Given the description of an element on the screen output the (x, y) to click on. 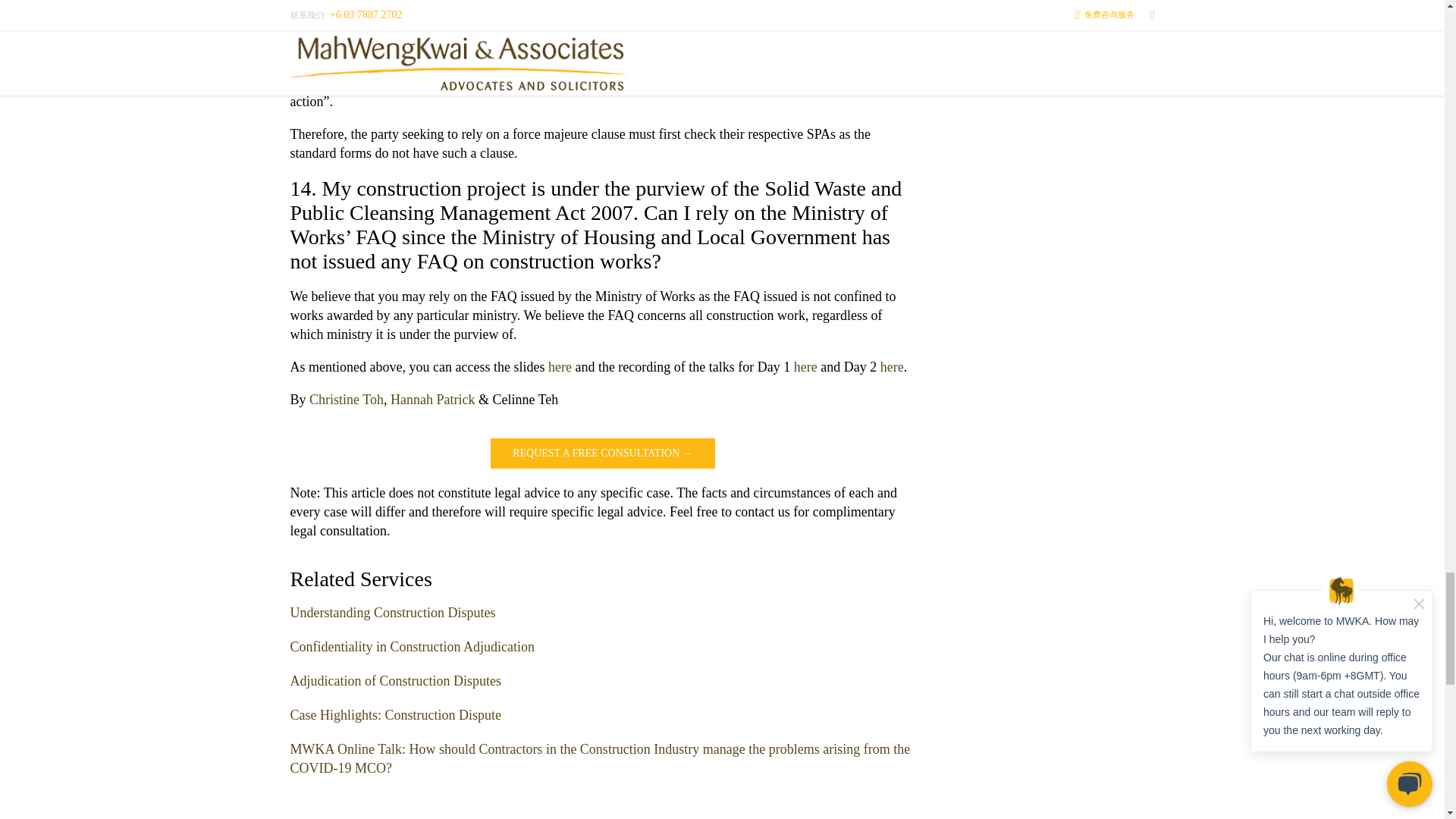
Hannah Patrick (432, 399)
here (892, 366)
here (561, 366)
Case Highlights: Construction Dispute (394, 714)
Understanding Construction Disputes (392, 612)
Adjudication of Construction Disputes (394, 680)
Confidentiality in Construction Adjudication (411, 646)
Christine Toh (346, 399)
here (804, 366)
